Given the description of an element on the screen output the (x, y) to click on. 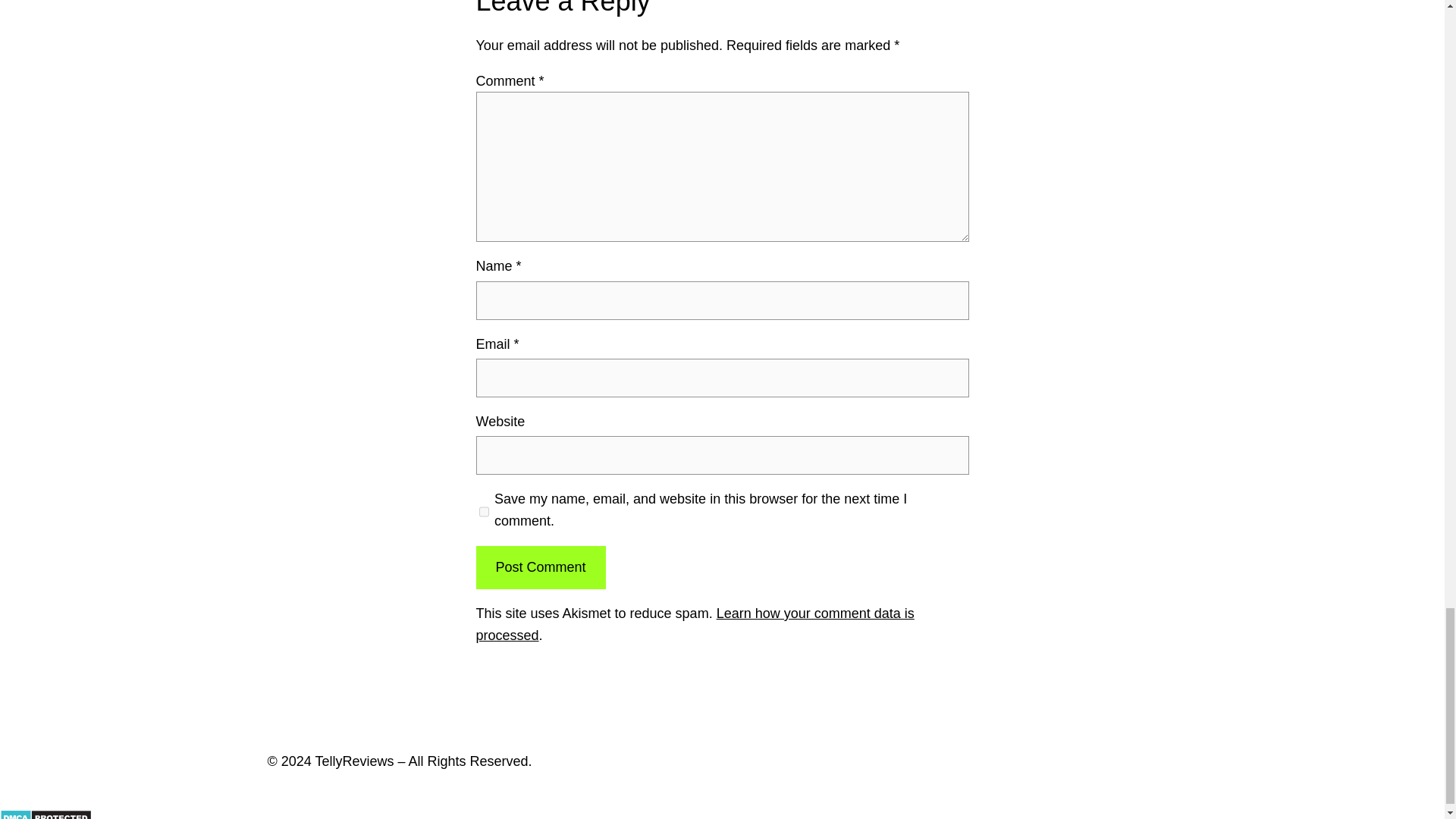
Learn how your comment data is processed (695, 624)
Post Comment (540, 567)
Post Comment (540, 567)
